Given the description of an element on the screen output the (x, y) to click on. 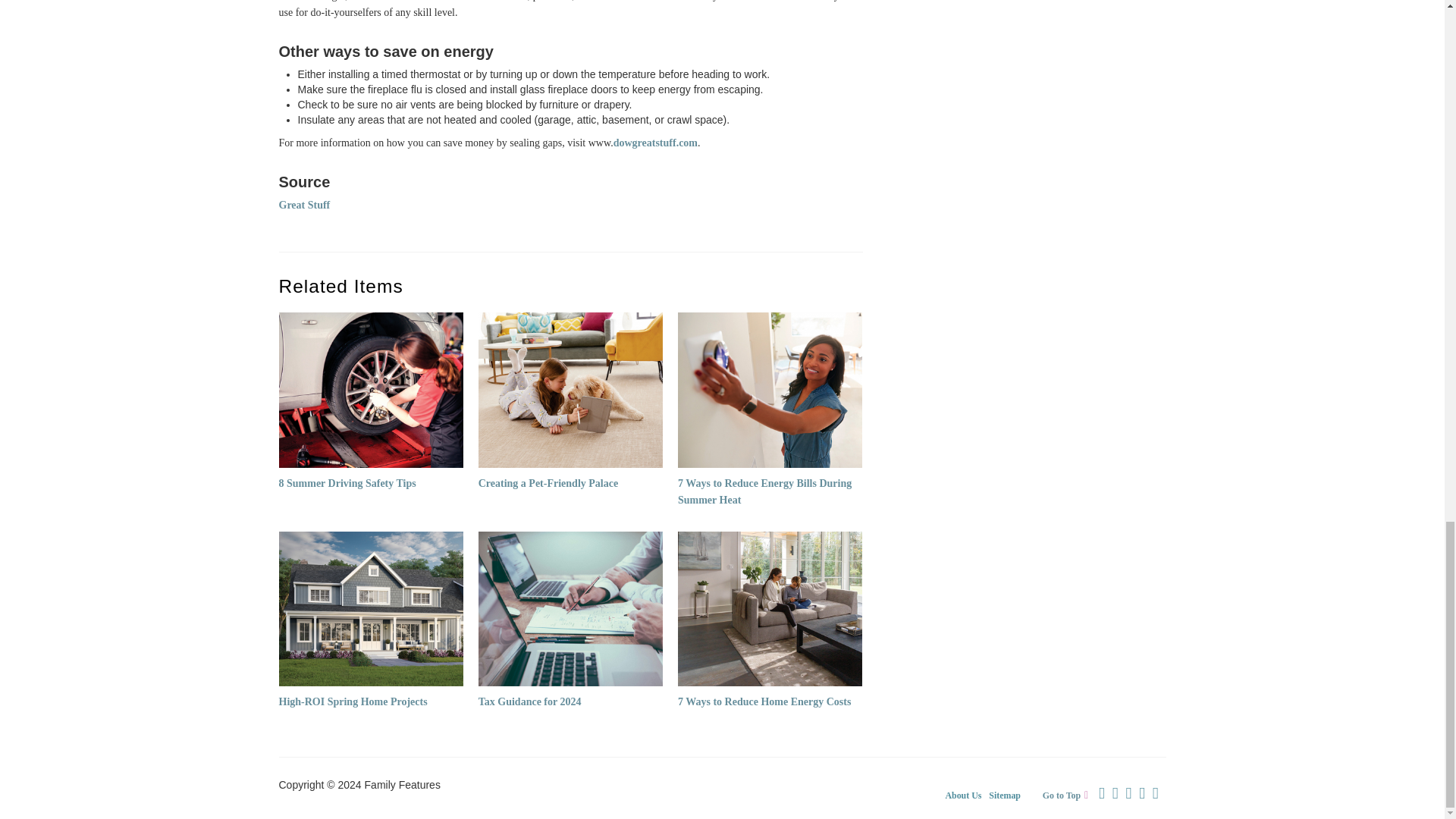
Go to Top (1069, 795)
